Given the description of an element on the screen output the (x, y) to click on. 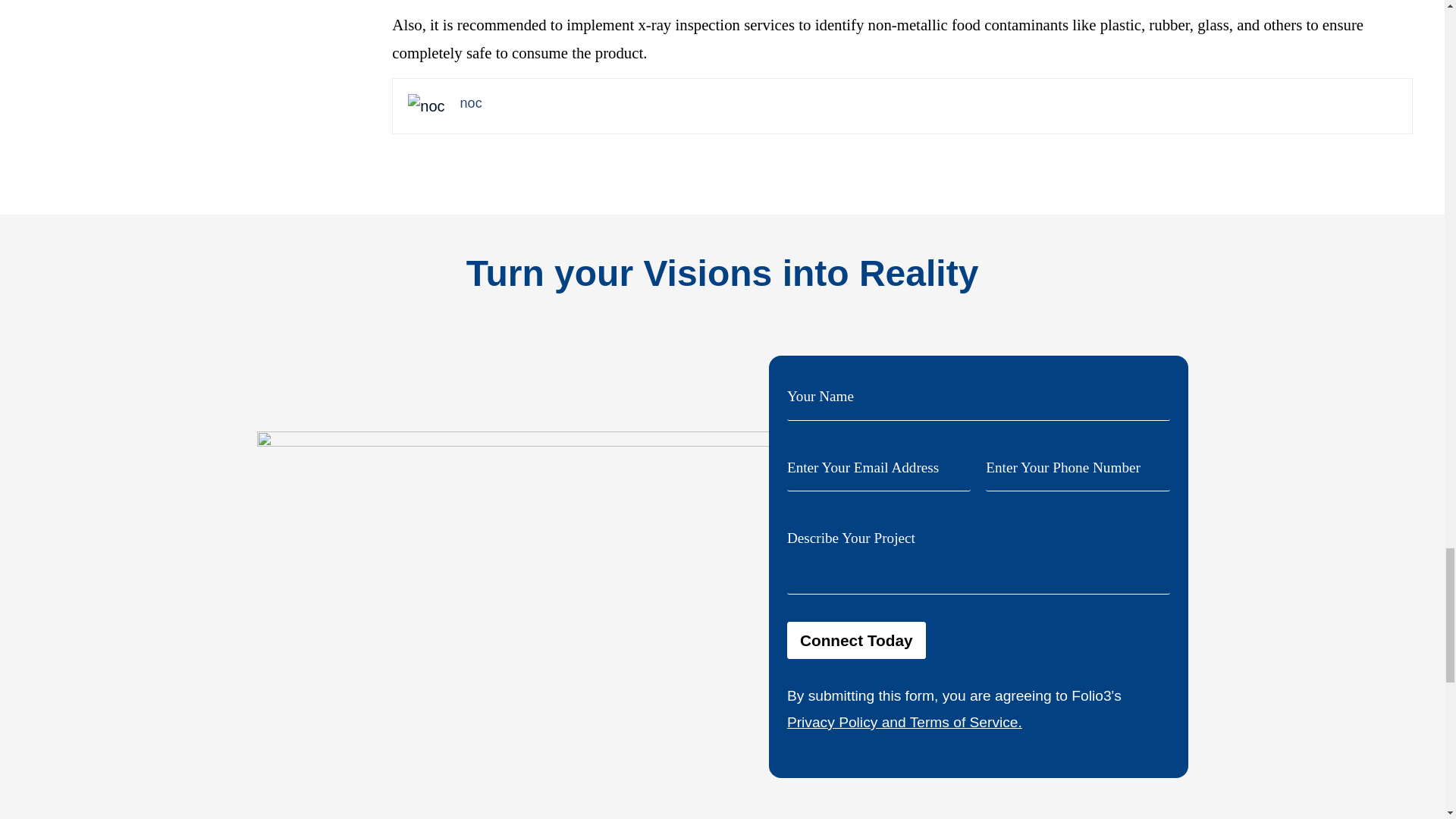
Connect Today (856, 640)
